Given the description of an element on the screen output the (x, y) to click on. 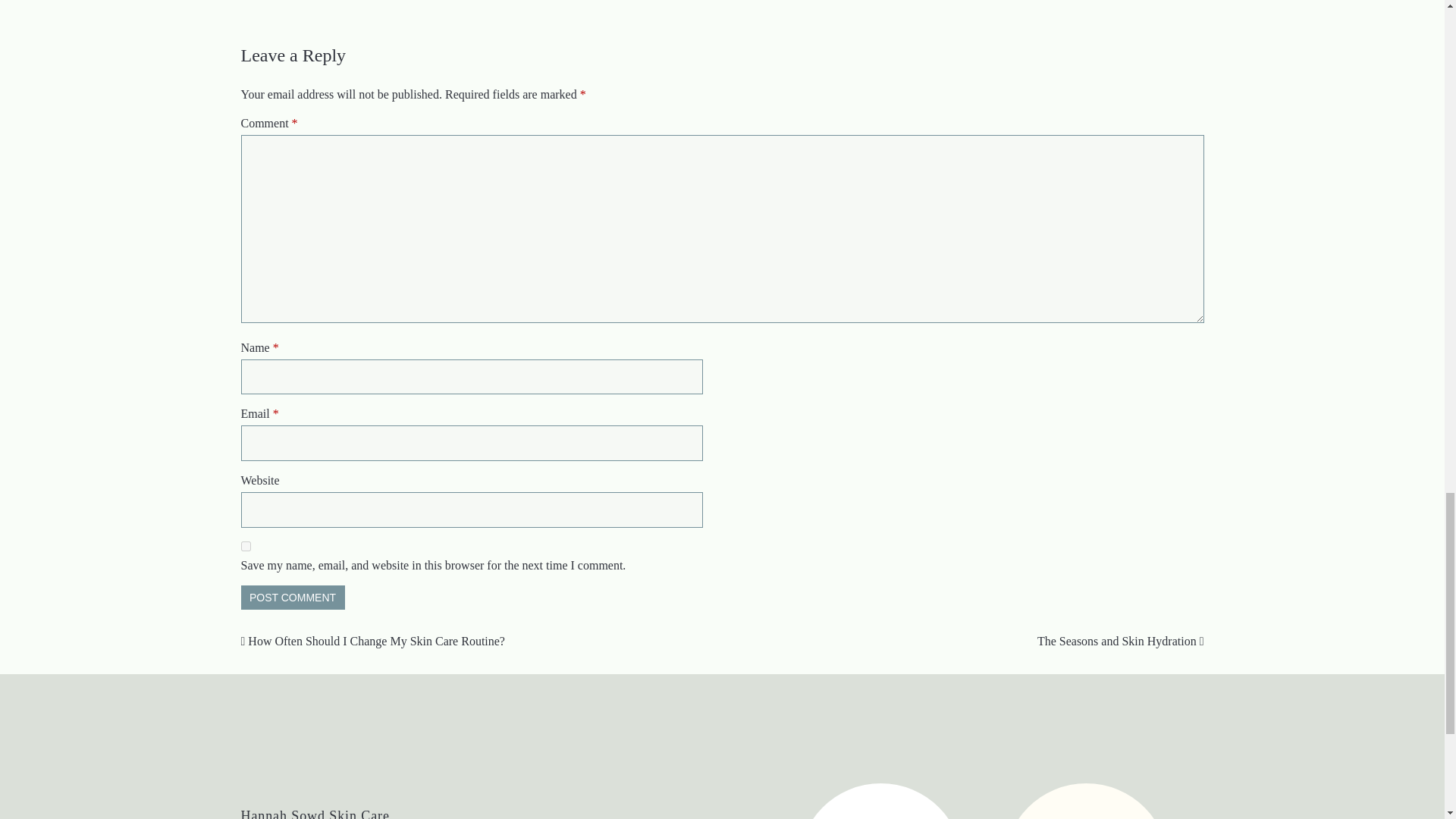
yes (245, 546)
Post Comment (293, 597)
How Often Should I Change My Skin Care Routine? (373, 640)
The Seasons and Skin Hydration (1120, 640)
Post Comment (293, 597)
